Given the description of an element on the screen output the (x, y) to click on. 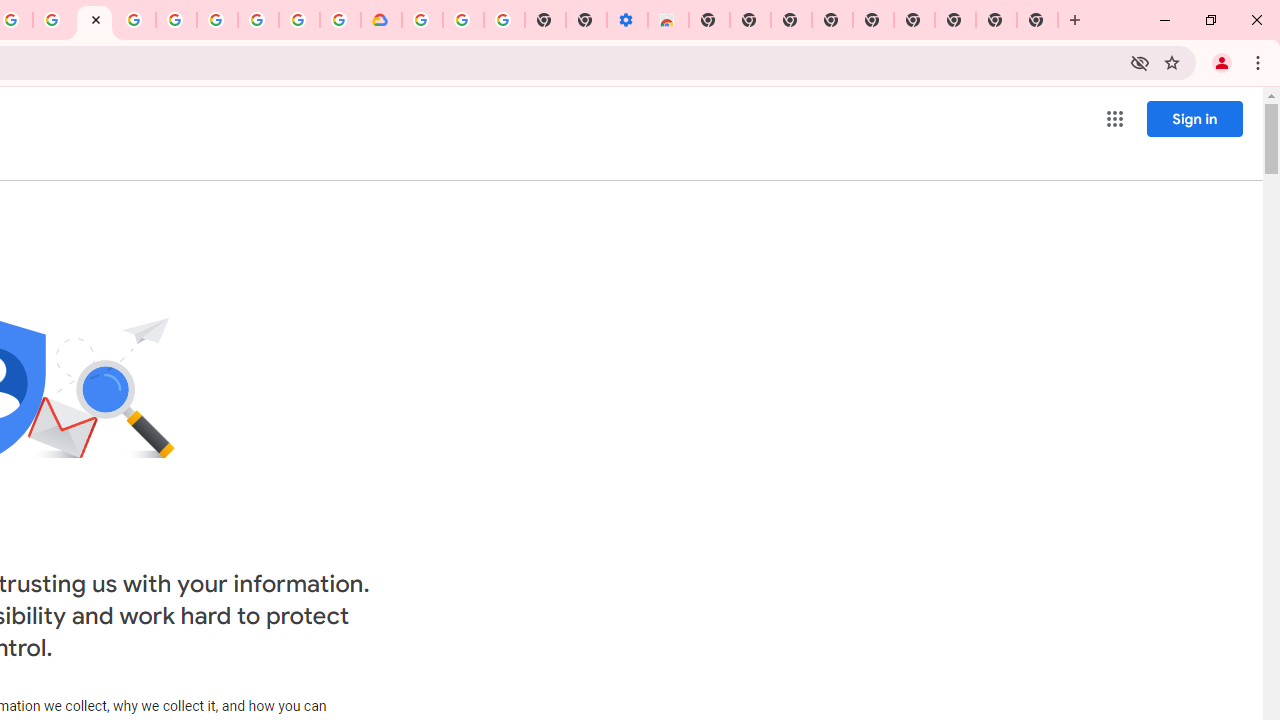
Turn cookies on or off - Computer - Google Account Help (503, 20)
Chrome Web Store - Accessibility extensions (667, 20)
New Tab (1037, 20)
Google Account Help (462, 20)
New Tab (708, 20)
Sign in - Google Accounts (176, 20)
Create your Google Account (299, 20)
Settings - Accessibility (626, 20)
